Given the description of an element on the screen output the (x, y) to click on. 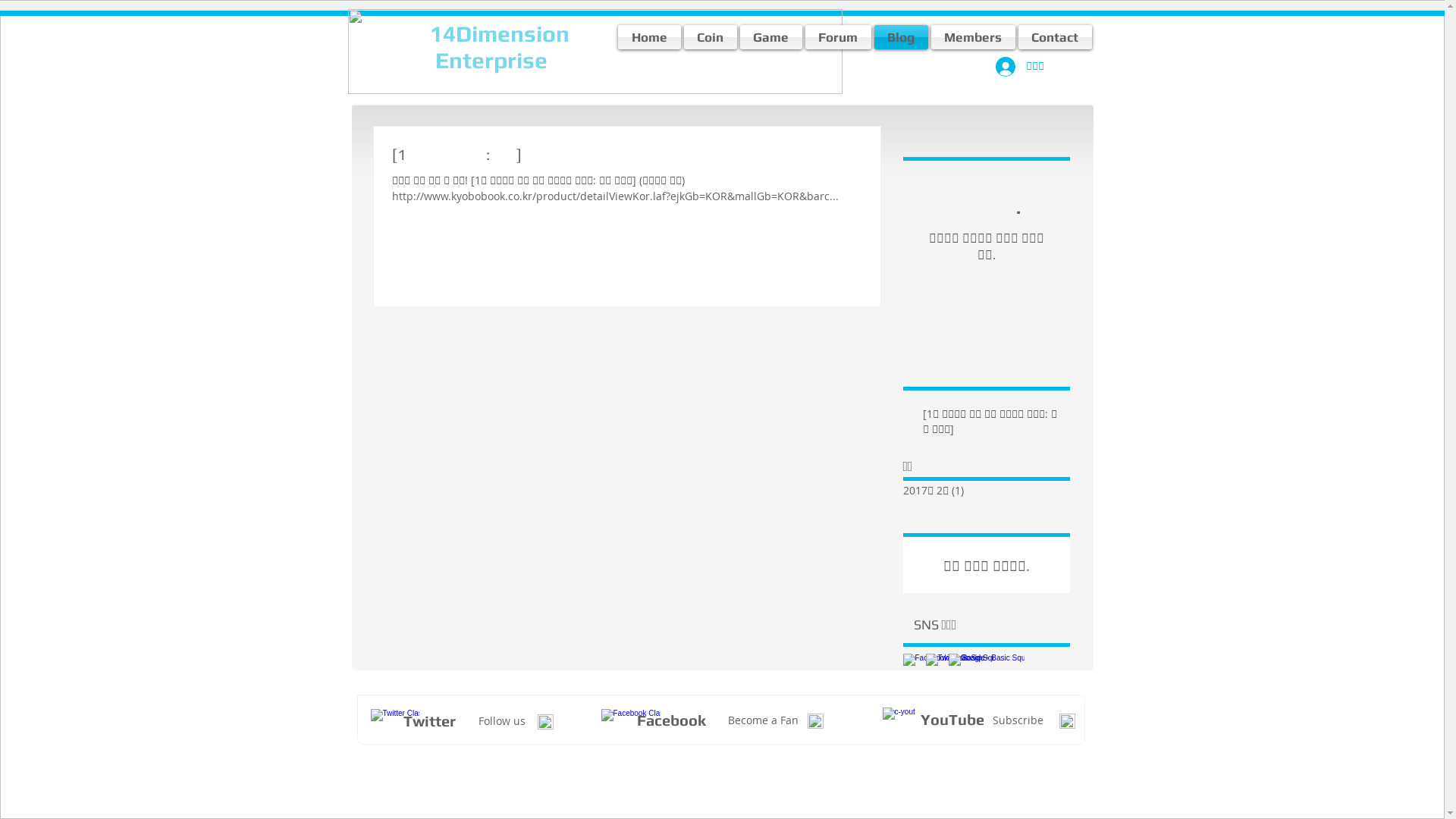
Forum Element type: text (837, 37)
Members Element type: text (972, 37)
Contact Element type: text (1053, 37)
Coin Element type: text (710, 37)
Game Element type: text (770, 37)
Home Element type: text (649, 37)
Blog Element type: text (900, 37)
